Given the description of an element on the screen output the (x, y) to click on. 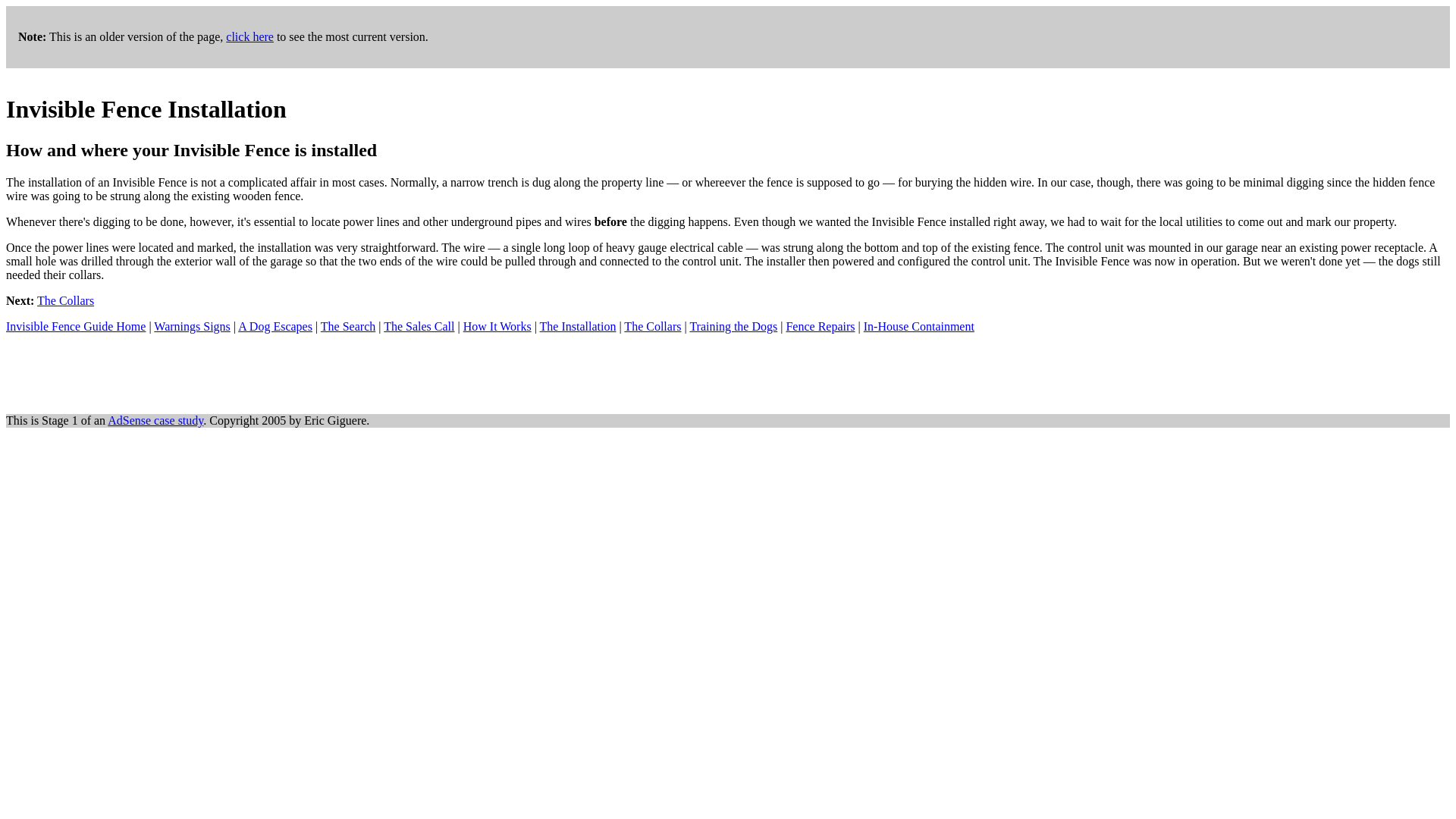
Advertisement (281, 73)
Fence Repairs (820, 326)
The Installation (577, 326)
How It Works (497, 326)
In-House Containment (918, 326)
Invisible Fence Guide Home (75, 326)
The Collars (652, 326)
Advertisement (281, 367)
The Collars (65, 300)
A Dog Escapes (275, 326)
Warnings Signs (192, 326)
The Search (347, 326)
AdSense case study (155, 420)
Training the Dogs (732, 326)
The Sales Call (419, 326)
